Given the description of an element on the screen output the (x, y) to click on. 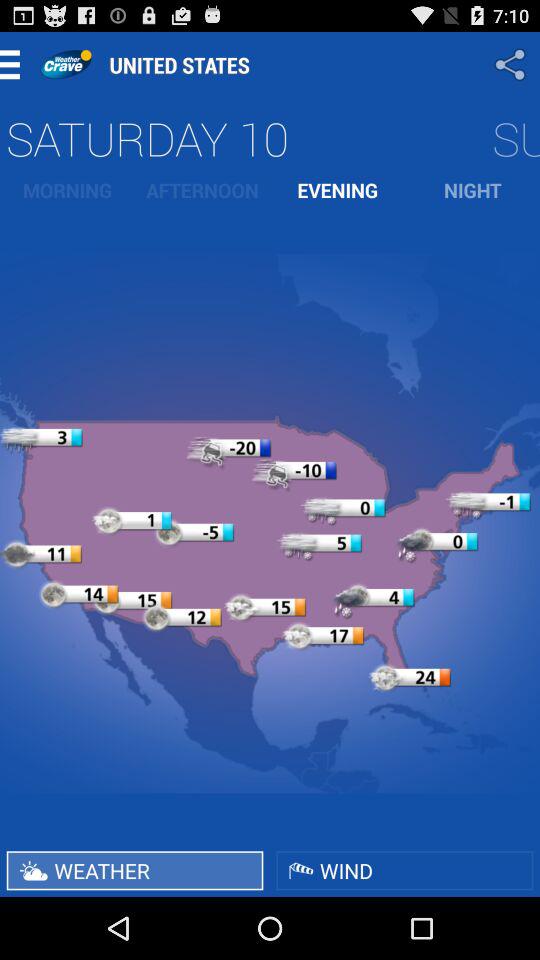
share (512, 64)
